Given the description of an element on the screen output the (x, y) to click on. 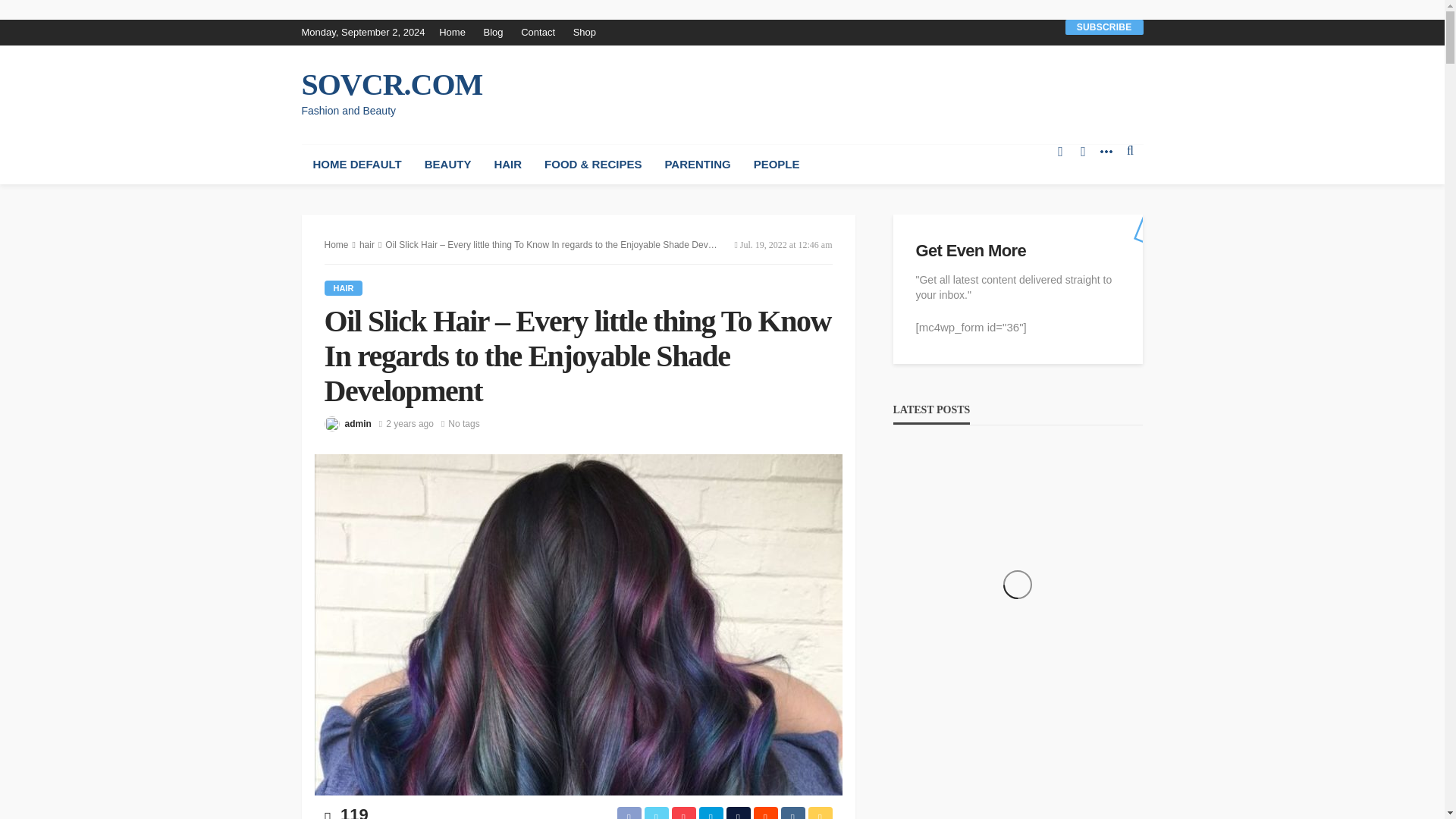
Contact (537, 32)
SOVCR.COM (392, 84)
Shop (585, 32)
Search (1130, 150)
Blog (493, 32)
Home (456, 32)
subscribe (1103, 27)
hair (343, 287)
SUBSCRIBE (1103, 27)
